Given the description of an element on the screen output the (x, y) to click on. 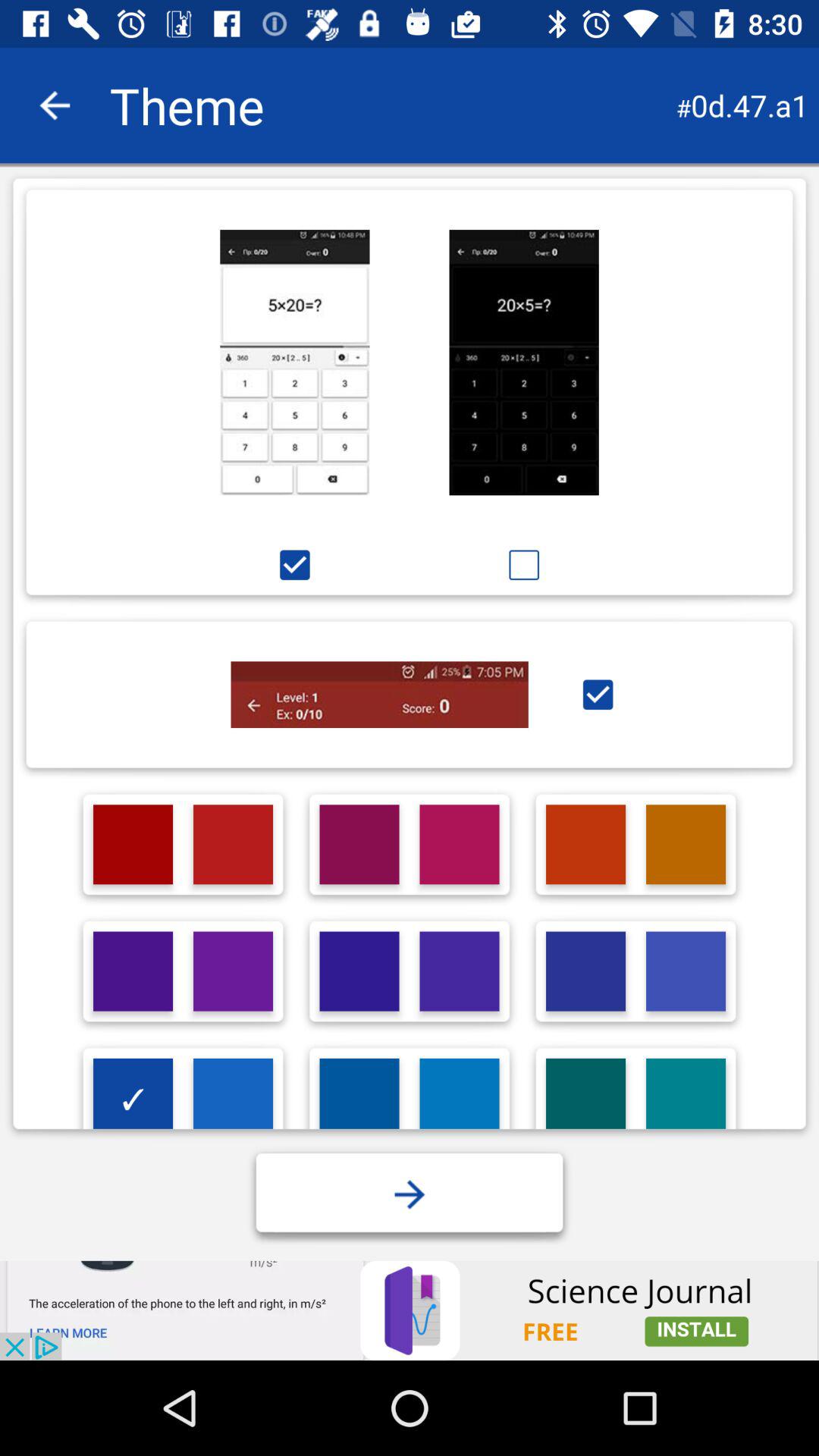
sad (523, 564)
